Given the description of an element on the screen output the (x, y) to click on. 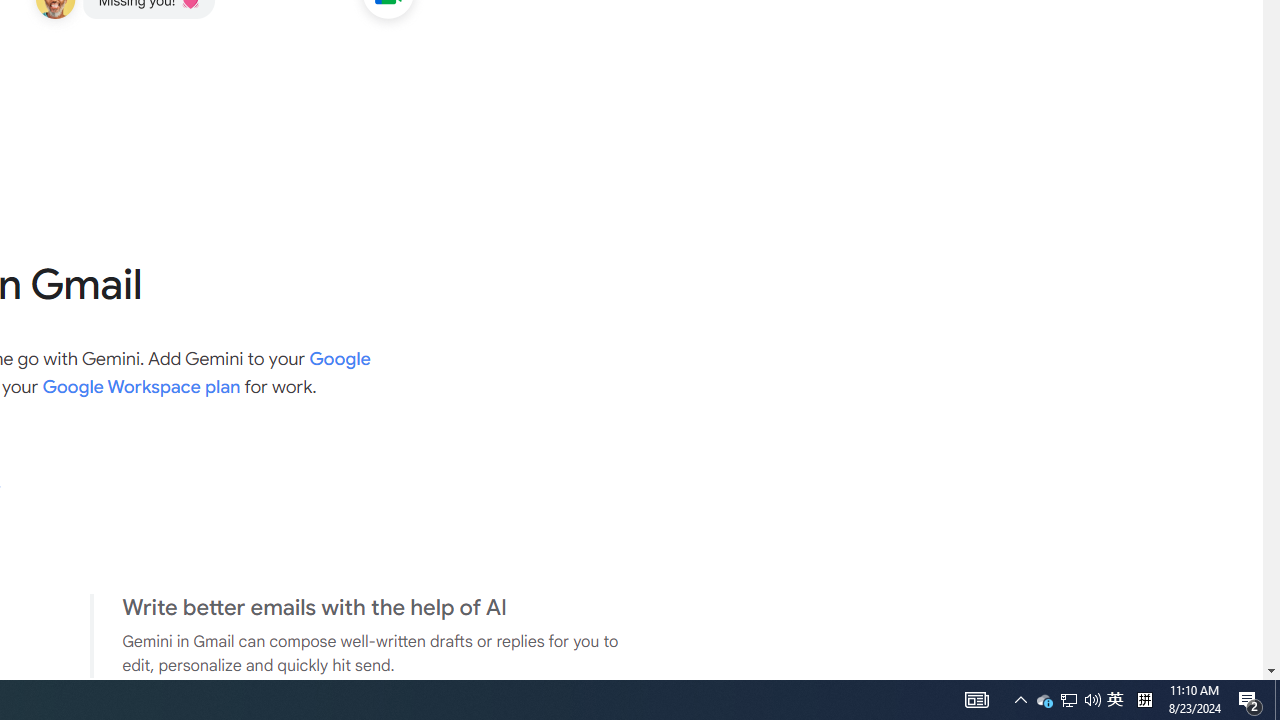
Q2790: 100% (1092, 699)
User Promoted Notification Area (1044, 699)
Show desktop (1068, 699)
Tray Input Indicator - Chinese (Simplified, China) (1277, 699)
Google Workspace plan (1069, 699)
Notification Chevron (1144, 699)
Action Center, 2 new notifications (1115, 699)
AutomationID: 4105 (141, 386)
